Given the description of an element on the screen output the (x, y) to click on. 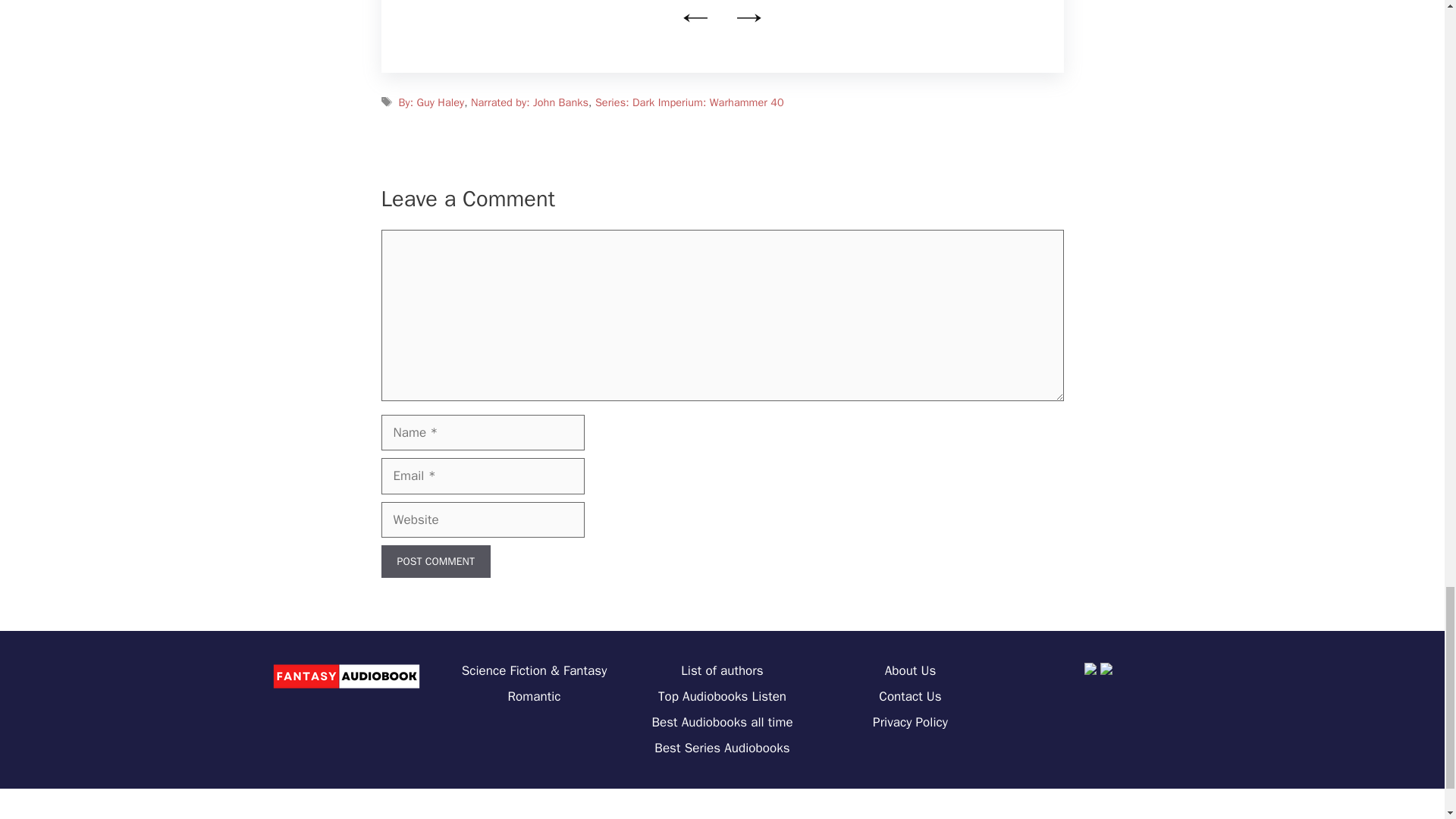
Post Comment (434, 561)
